Given the description of an element on the screen output the (x, y) to click on. 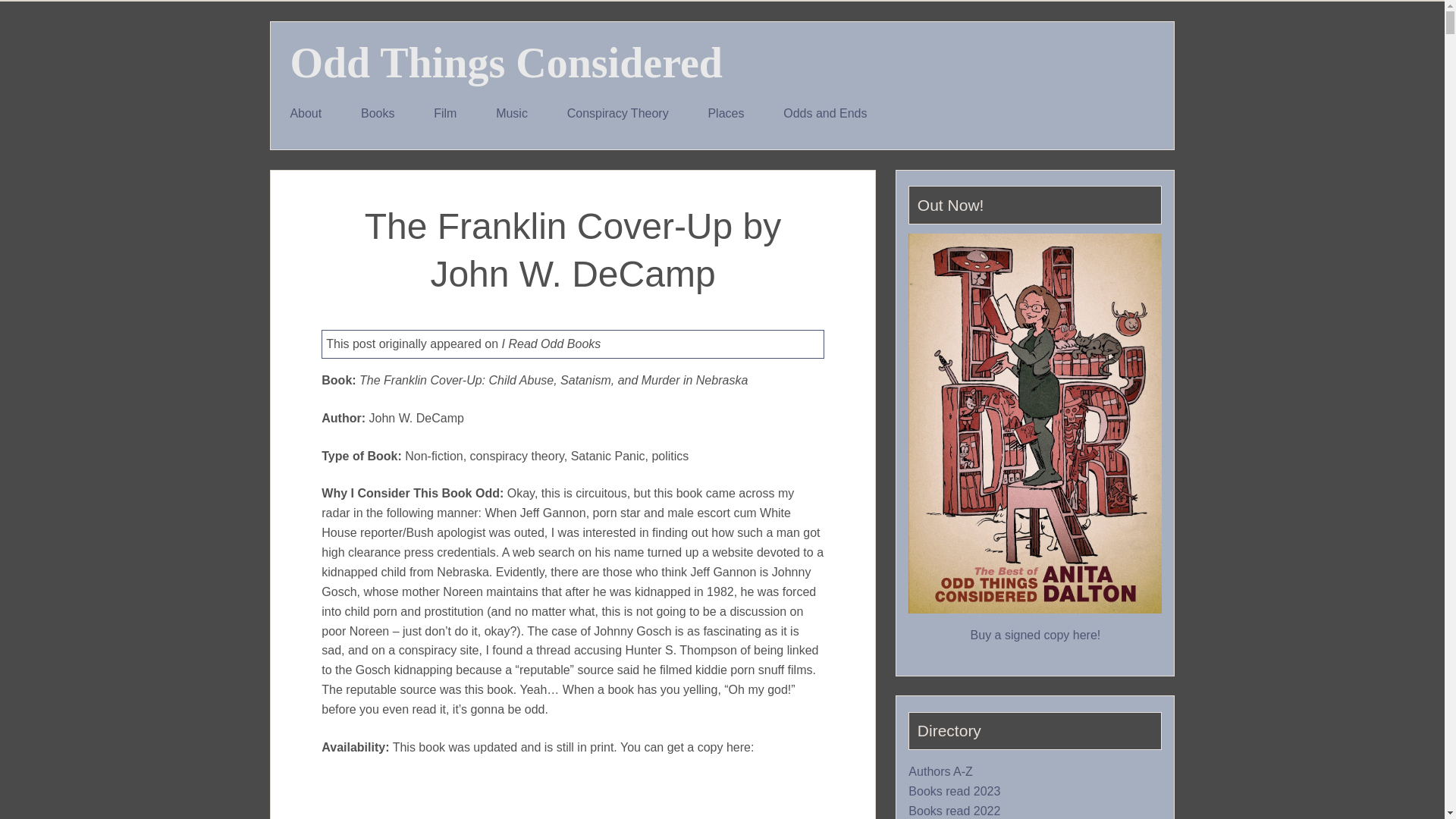
About (306, 114)
Conspiracy Theory (617, 114)
Odd Things Considered (505, 62)
Music (511, 114)
Odds and Ends (824, 114)
Places (726, 114)
Film (444, 114)
Books (376, 114)
